Given the description of an element on the screen output the (x, y) to click on. 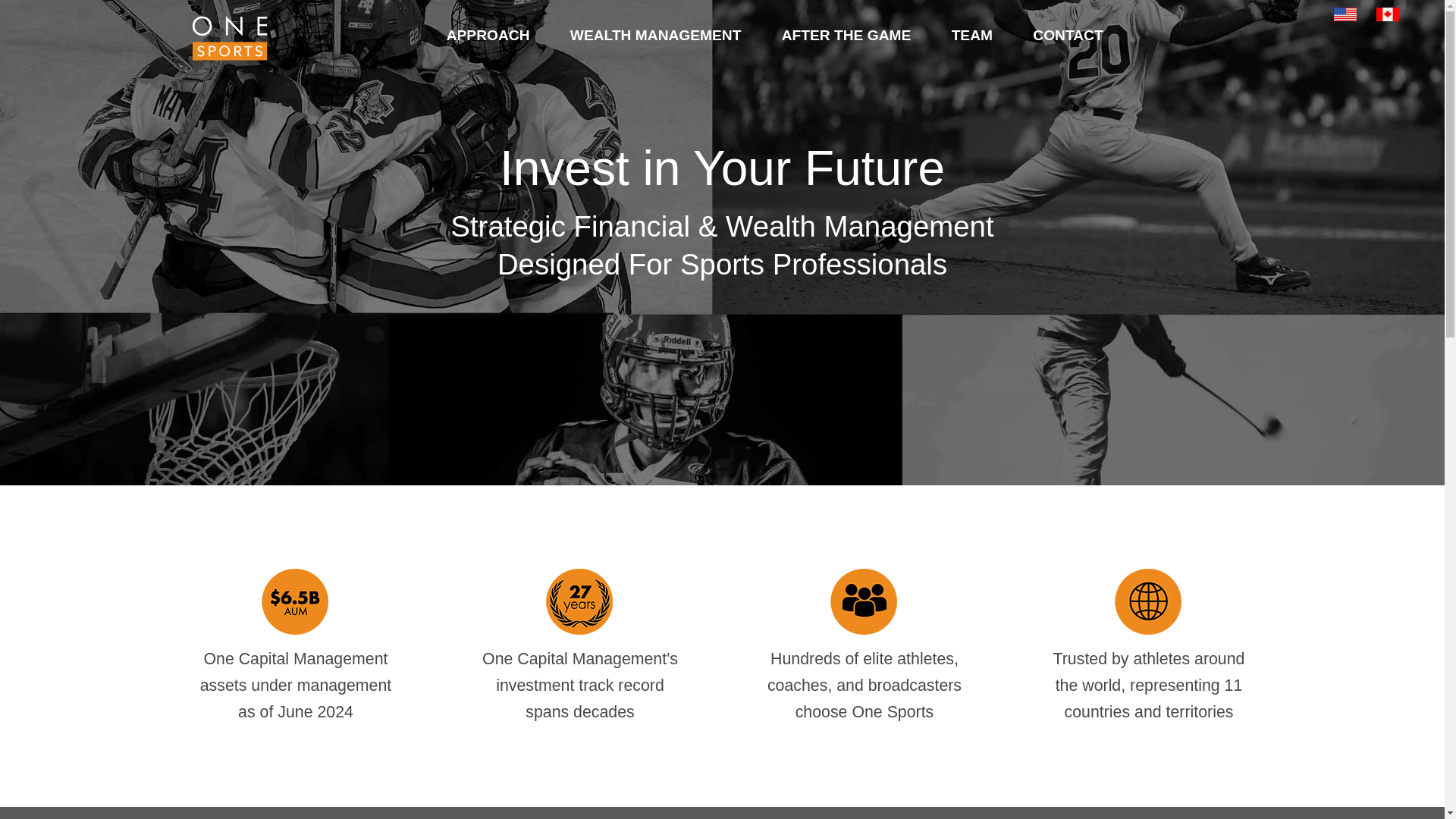
APPROACH (488, 33)
CONTACT (1068, 33)
WEALTH MANAGEMENT (655, 33)
AFTER THE GAME (846, 33)
